Given the description of an element on the screen output the (x, y) to click on. 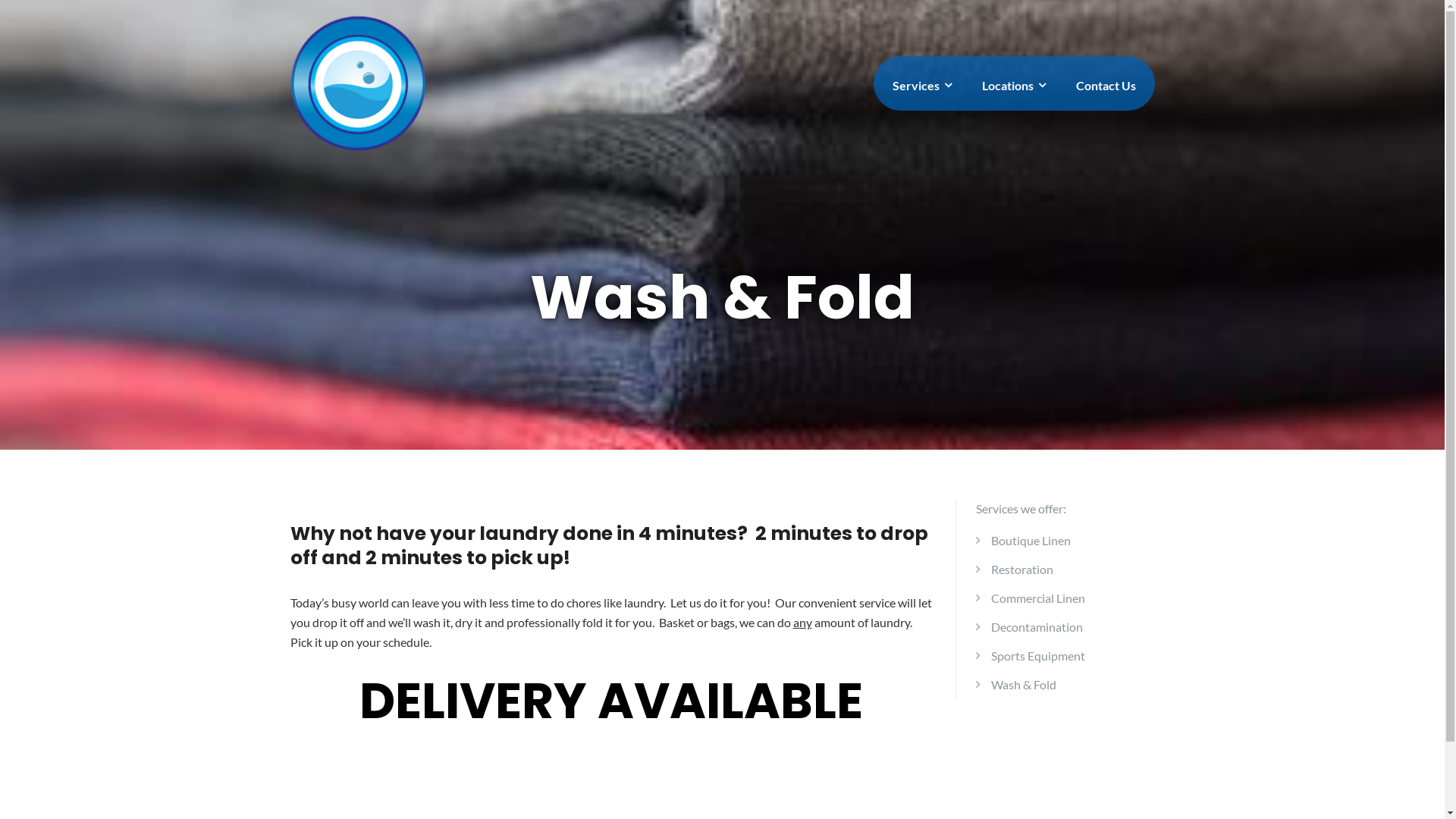
Boutique Linen Element type: text (1030, 540)
Wash & Fold Element type: text (1023, 684)
Decontamination Element type: text (1036, 626)
Sports Equipment Element type: text (1038, 655)
Restoration Element type: text (1022, 568)
Locations Element type: text (1012, 85)
Commercial Linen Element type: text (1038, 597)
Services Element type: text (920, 85)
Contact Us Element type: text (1105, 85)
